Given the description of an element on the screen output the (x, y) to click on. 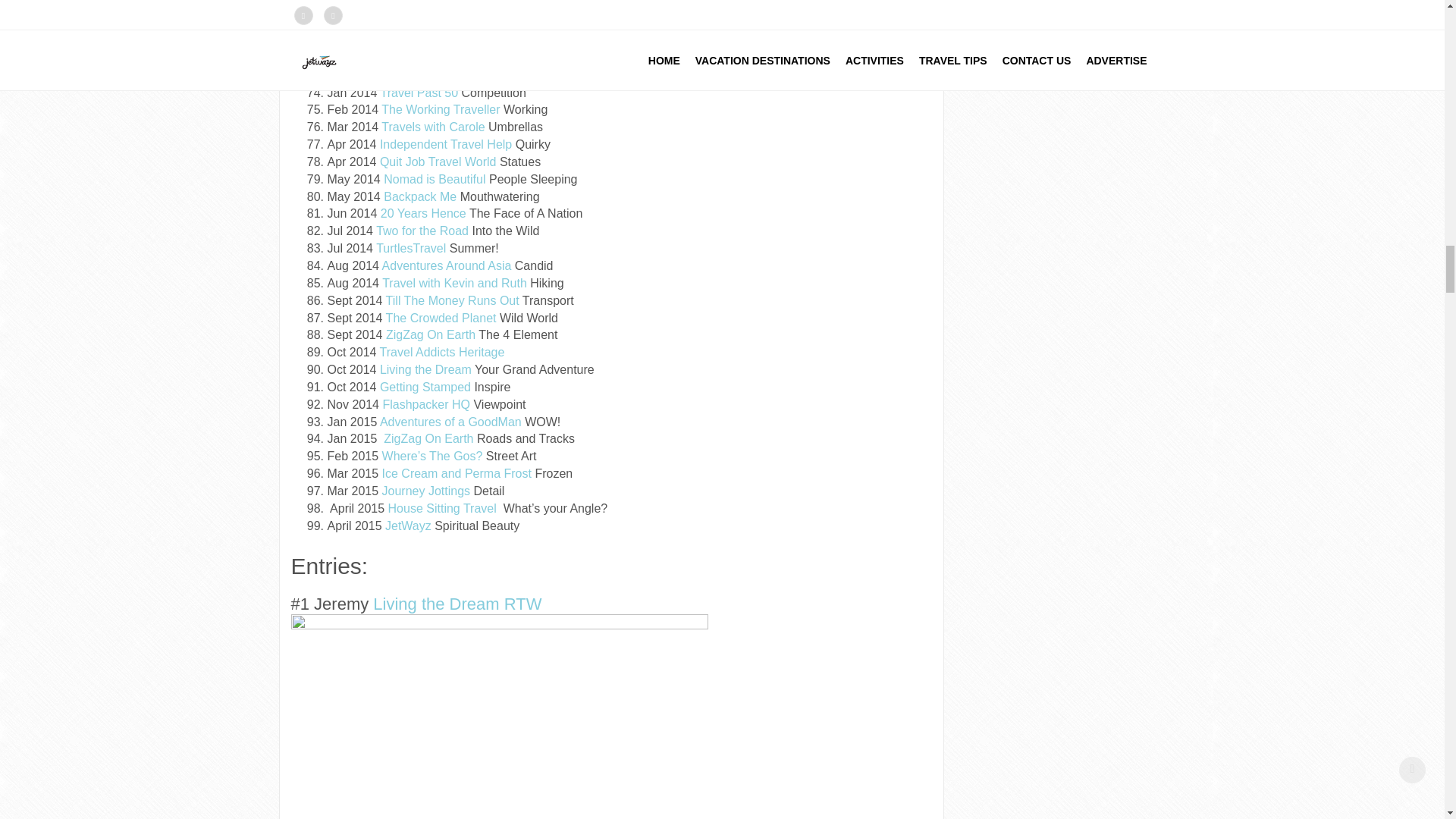
House Sitting travel - round 98 - What's your angle (445, 508)
Living The Dream RTW (456, 603)
JetWayz - Round 99 - Spiritual Beauty (407, 525)
Jermey Entry (499, 716)
